Given the description of an element on the screen output the (x, y) to click on. 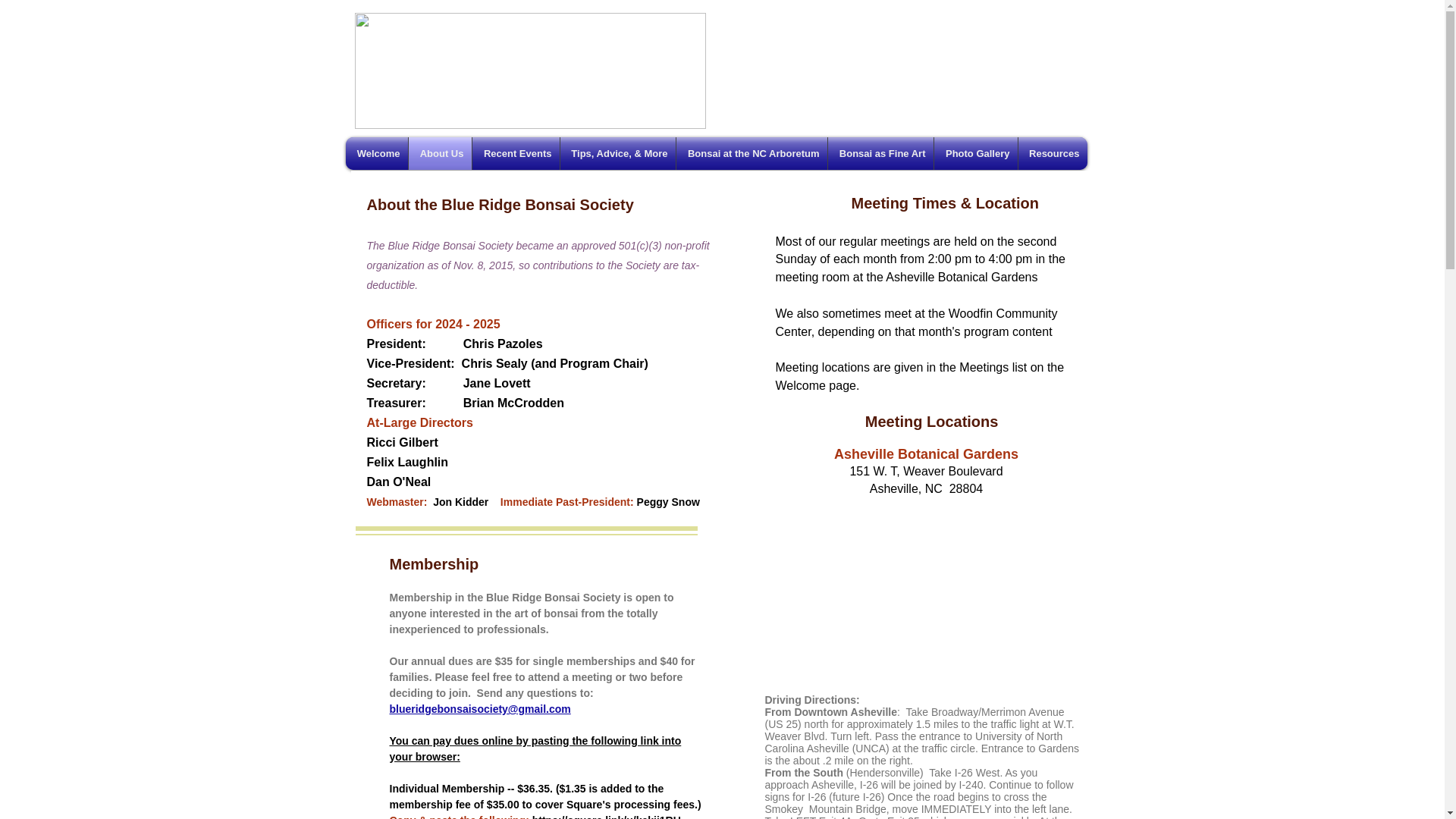
About Us (438, 153)
Bonsai at the NC Arboretum (752, 153)
Recent Events (515, 153)
Bonsai as Fine Art (880, 153)
Resources (1051, 153)
Photo Gallery (975, 153)
Welcome (376, 153)
